Given the description of an element on the screen output the (x, y) to click on. 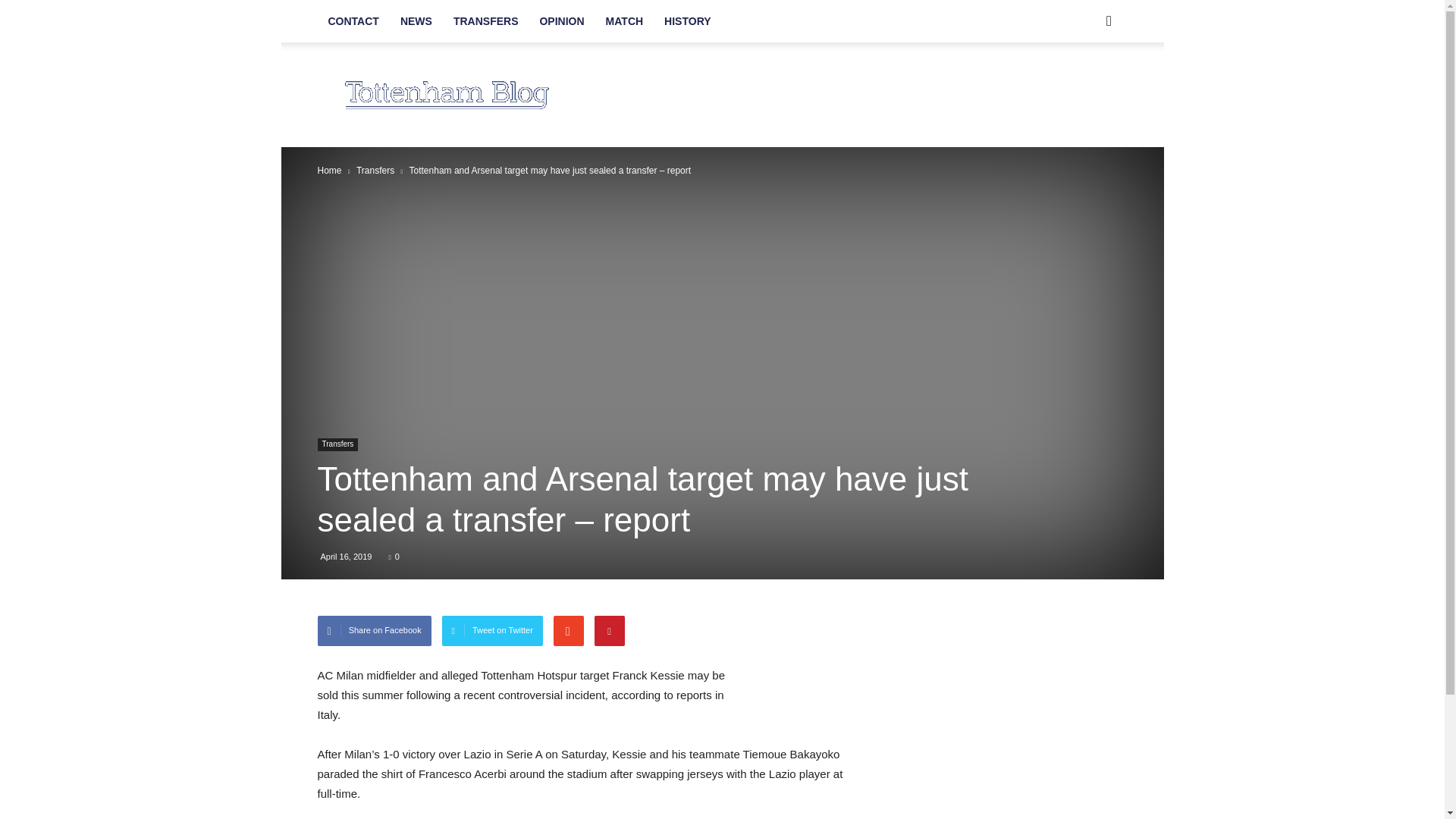
Tweet on Twitter (492, 630)
TRANSFERS (485, 21)
HISTORY (686, 21)
View all posts in Transfers (375, 170)
Home (328, 170)
OPINION (561, 21)
Transfers (375, 170)
Transfers (337, 444)
Share on Facebook (373, 630)
CONTACT (352, 21)
